Given the description of an element on the screen output the (x, y) to click on. 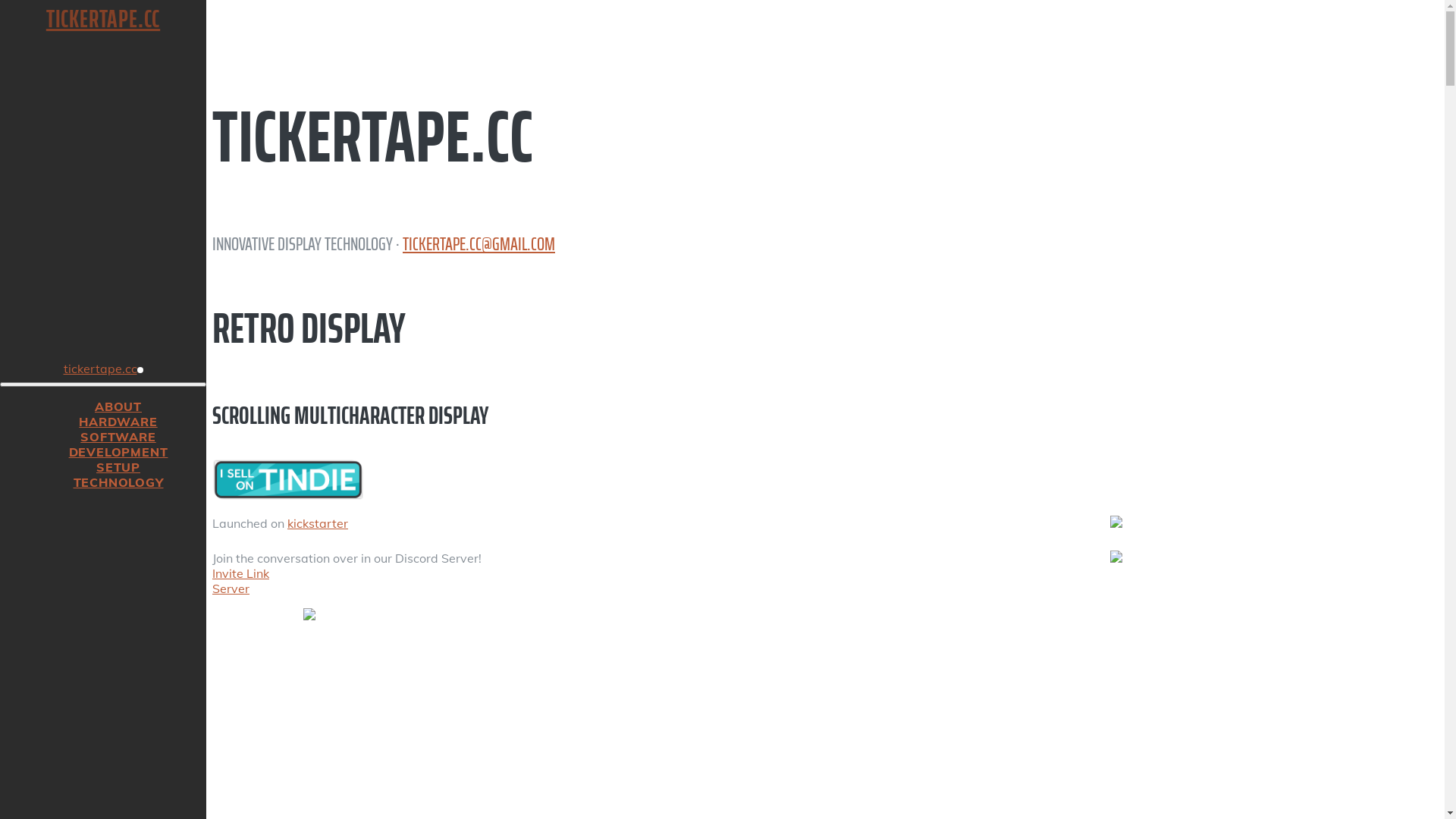
SOFTWARE Element type: text (118, 436)
SETUP Element type: text (118, 466)
TECHNOLOGY Element type: text (118, 481)
TICKERTAPE.CC@GMAIL.COM Element type: text (478, 243)
Server Element type: text (230, 588)
Invite Link Element type: text (240, 572)
kickstarter Element type: text (317, 522)
ABOUT Element type: text (118, 406)
HARDWARE Element type: text (118, 421)
DEVELOPMENT Element type: text (118, 451)
tickertape.cc Element type: text (103, 368)
TICKERTAPE.CC Element type: text (103, 18)
